Given the description of an element on the screen output the (x, y) to click on. 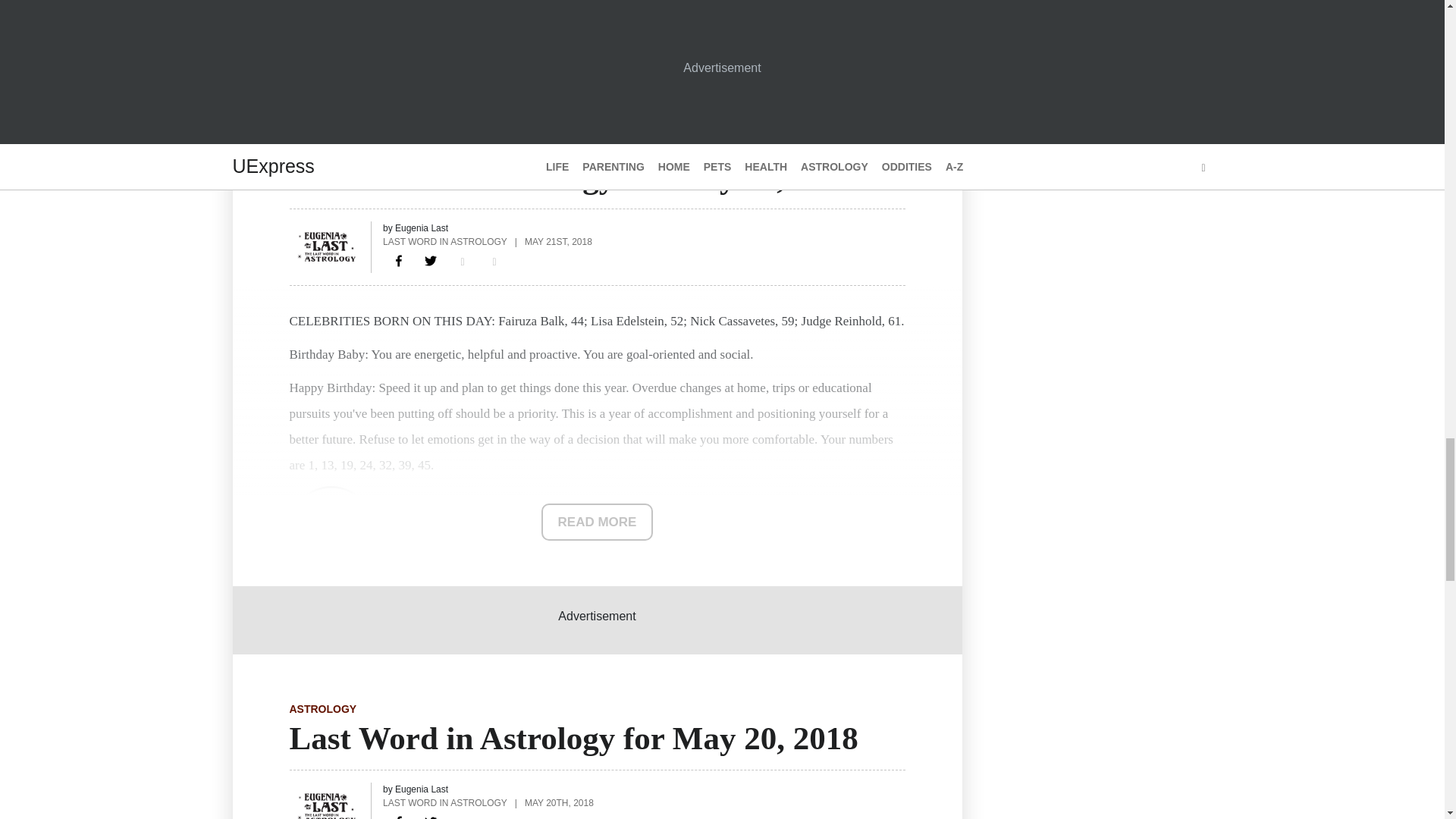
ASTROLOGY (322, 708)
Last Word in Astrology for May 21, 2018 (398, 260)
LAST WORD IN ASTROLOGY (444, 802)
Last Word in Astrology for May 20, 2018 (398, 814)
ASTROLOGY (322, 147)
READ MORE (597, 522)
LAST WORD IN ASTROLOGY (444, 241)
